Given the description of an element on the screen output the (x, y) to click on. 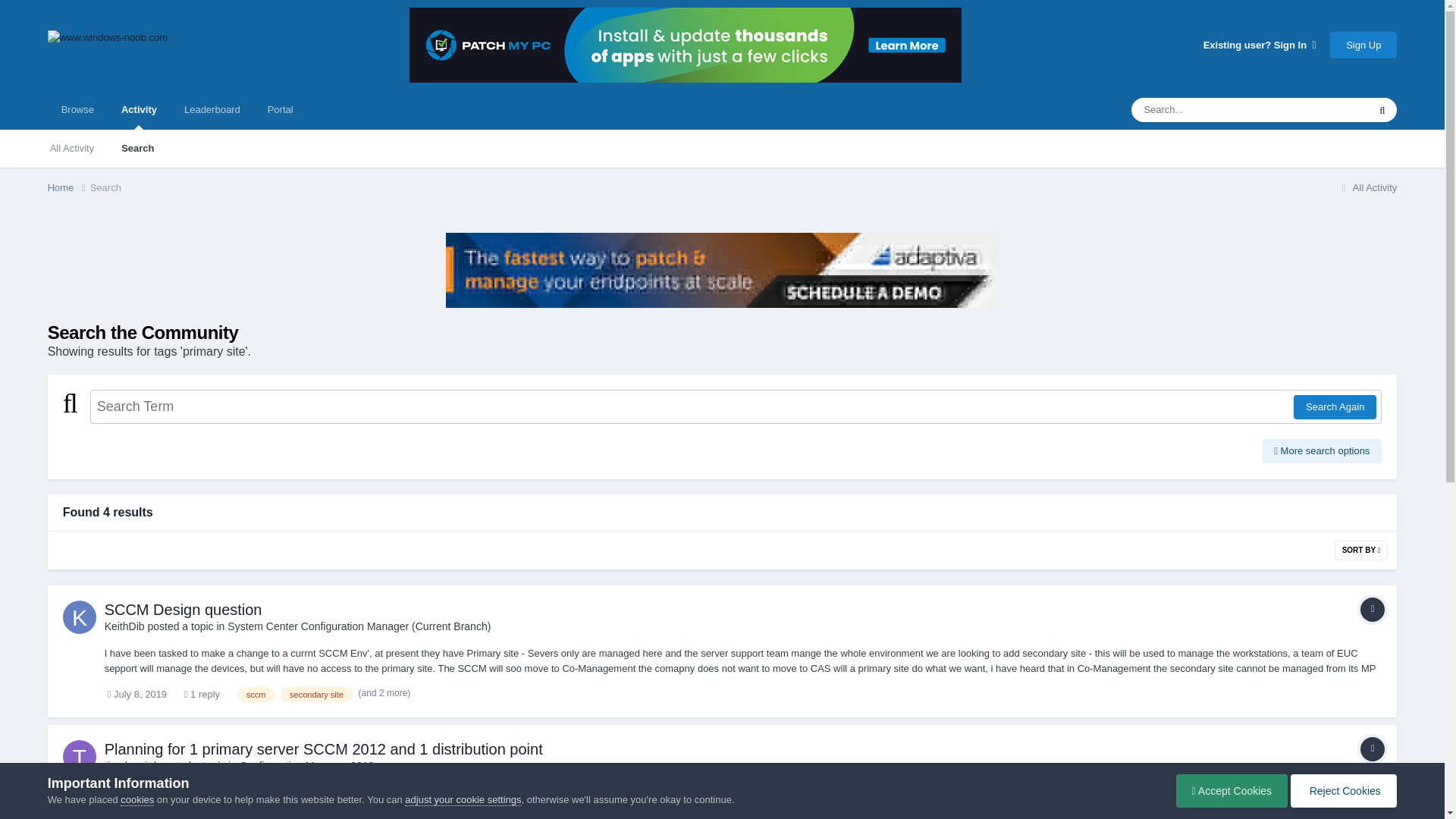
Home (69, 187)
Go to KeithDib's profile (124, 625)
Sign Up (1363, 44)
Topic (1371, 609)
Search Again (1334, 406)
Topic (1371, 749)
More search options (1321, 450)
Go to tiendungitd's profile (130, 766)
Find other content tagged with 'sccm' (256, 694)
Existing user? Sign In   (1260, 44)
All Activity (1366, 187)
Portal (280, 109)
Search (105, 187)
Home (69, 187)
Find other content tagged with 'secondary site' (316, 694)
